Given the description of an element on the screen output the (x, y) to click on. 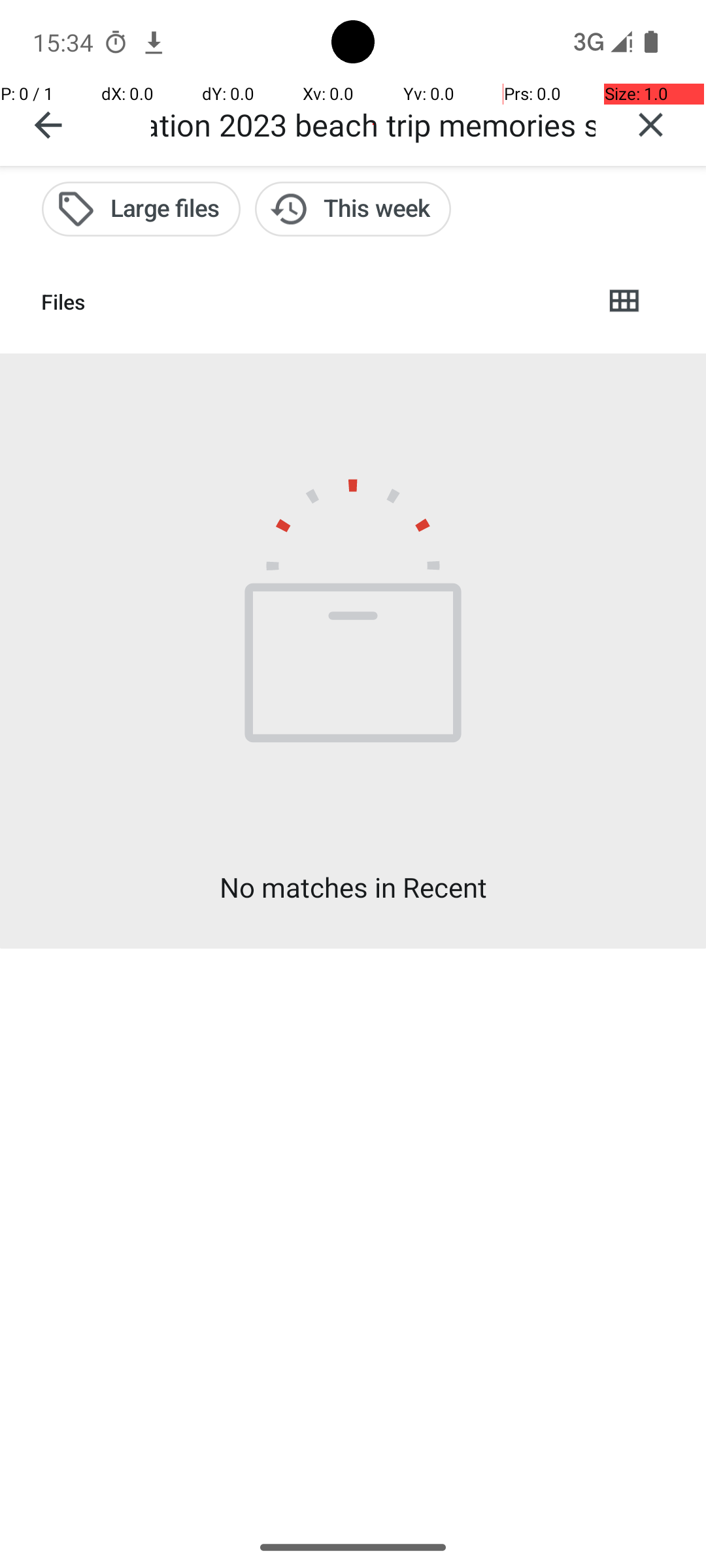
vacation photosbeachfamily gatheringfamily vacation 2023 beach trip memories summer 2023 trip memories 2023 Element type: android.widget.AutoCompleteTextView (373, 124)
